Given the description of an element on the screen output the (x, y) to click on. 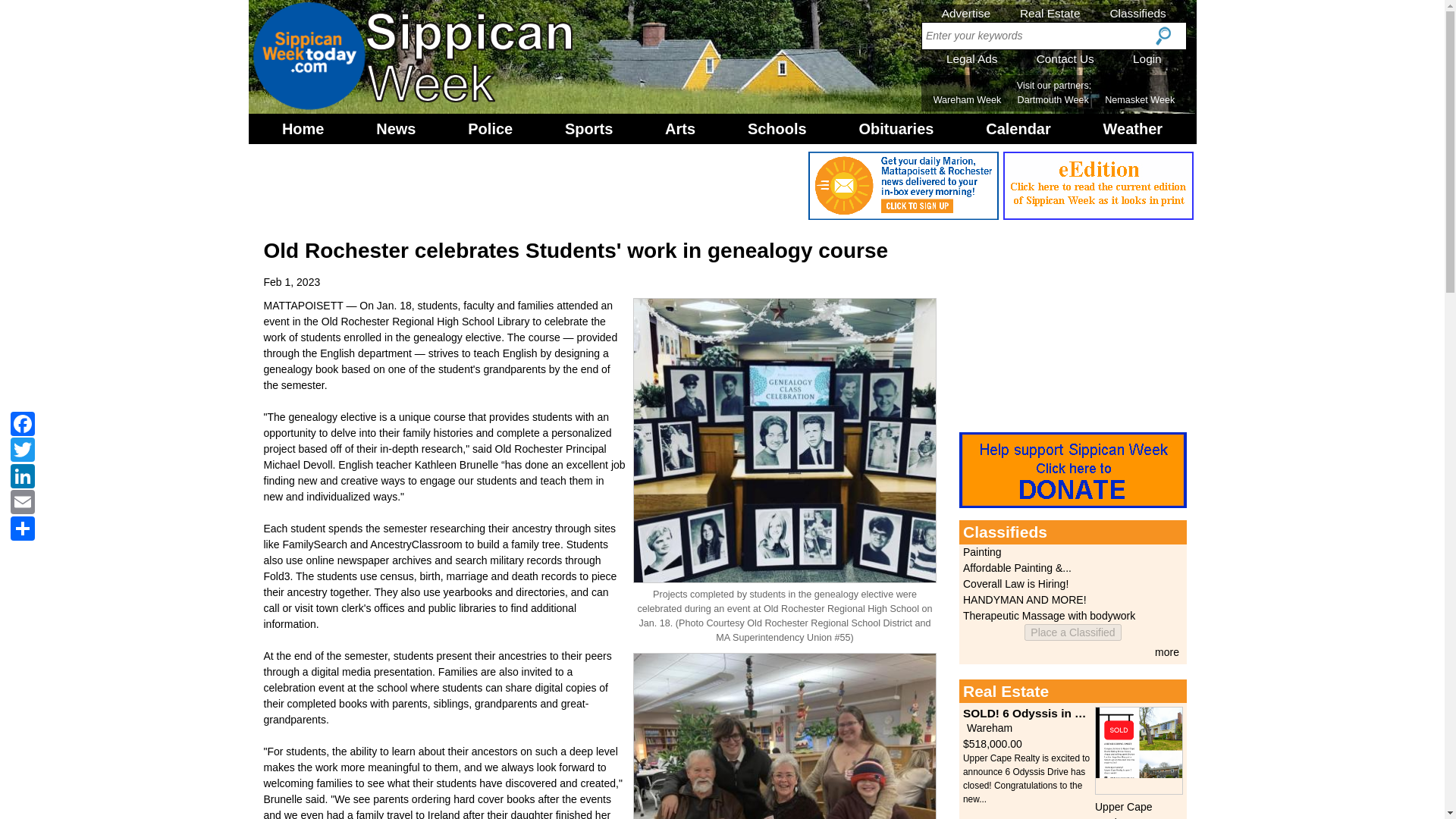
LinkedIn (22, 474)
Calendar (1017, 128)
Facebook (22, 422)
3rd party ad content (1072, 330)
3rd party ad content (527, 185)
Twitter (22, 448)
Schools (777, 128)
Dartmouth Week (1053, 100)
Weather (1133, 128)
News (395, 128)
